Given the description of an element on the screen output the (x, y) to click on. 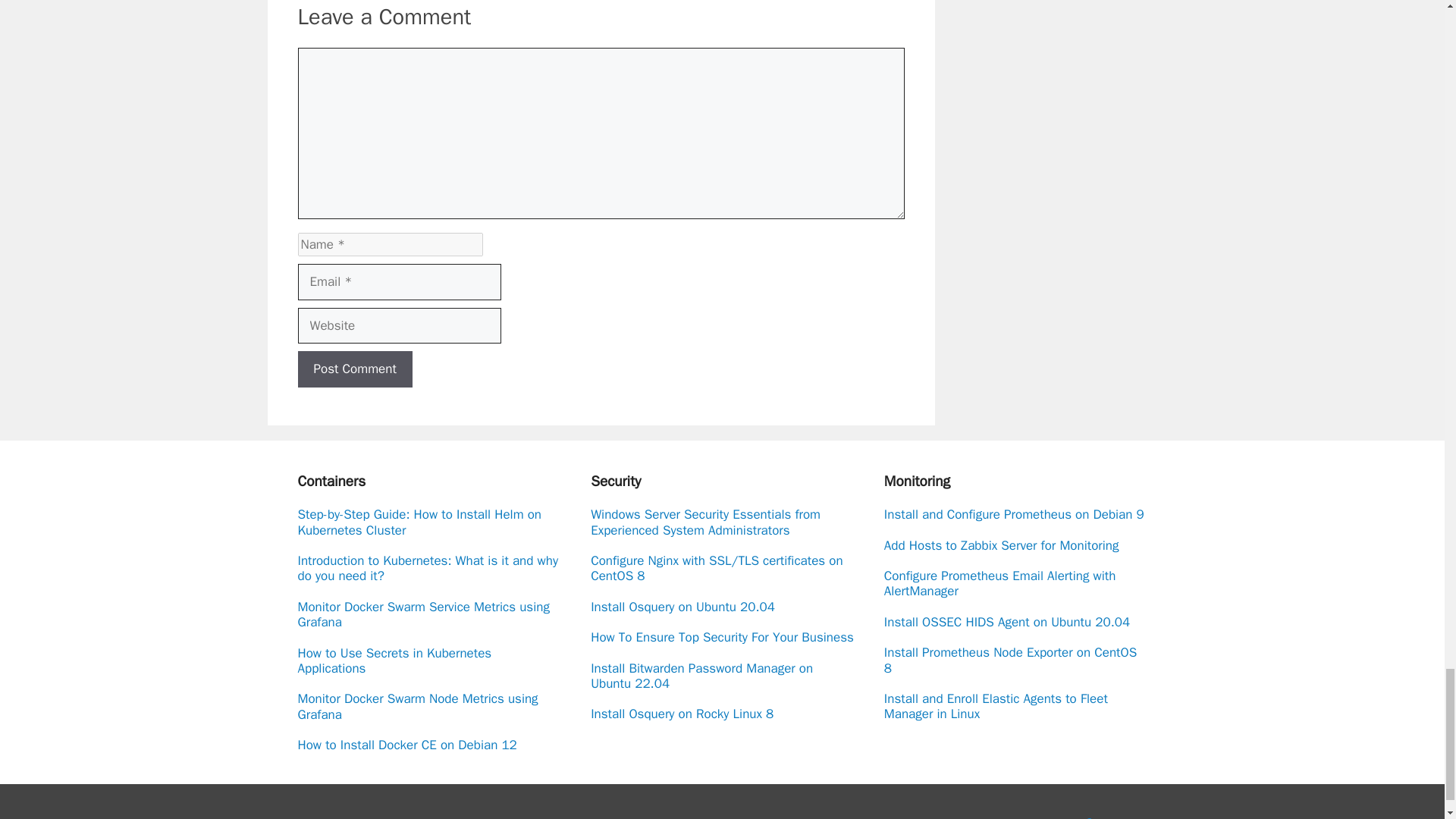
Post Comment (354, 369)
